Given the description of an element on the screen output the (x, y) to click on. 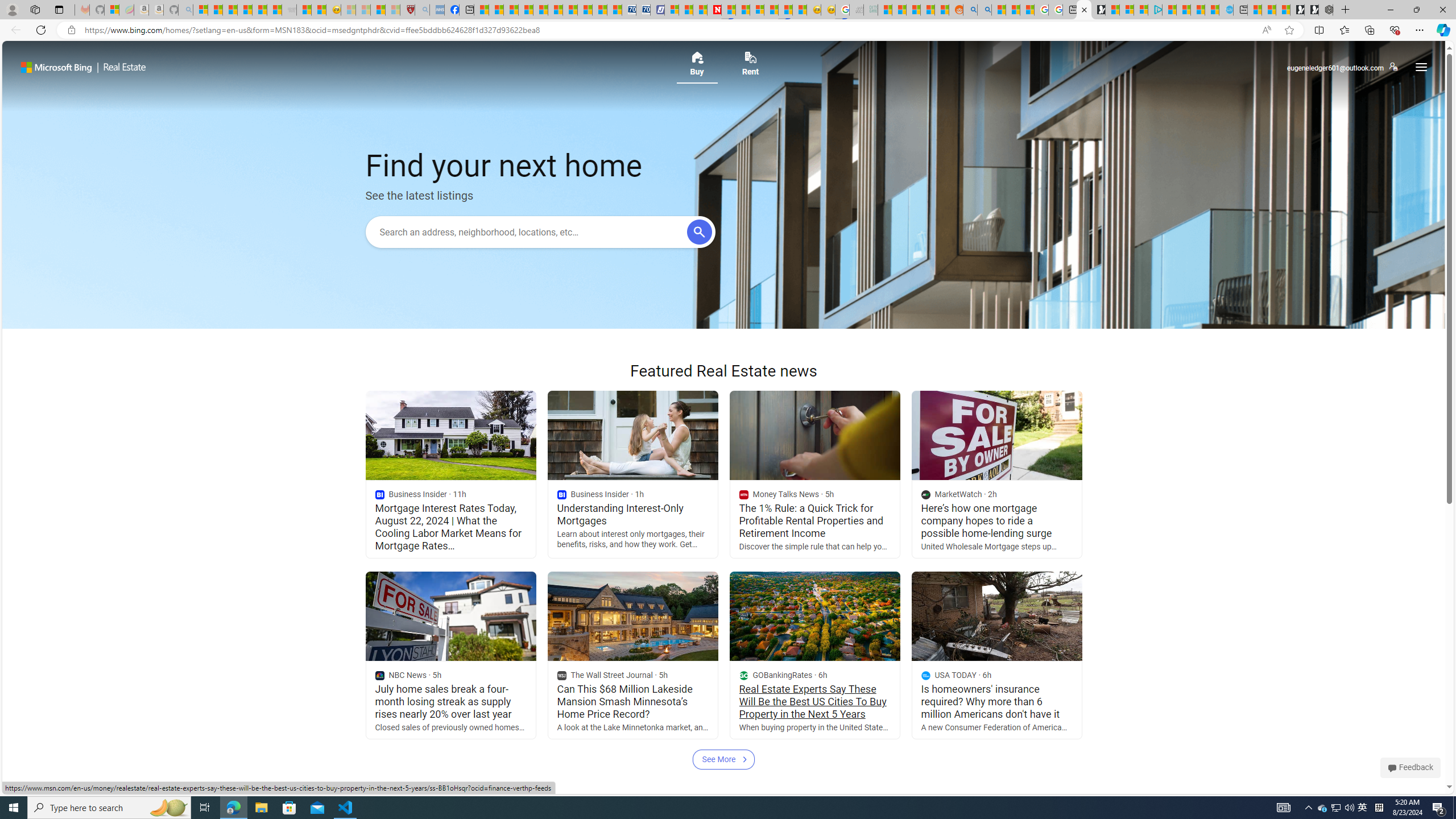
Bing Real Estate - Home sales and rental listings (1083, 9)
Real Estate (121, 66)
Cheap Car Rentals - Save70.com (628, 9)
